Given the description of an element on the screen output the (x, y) to click on. 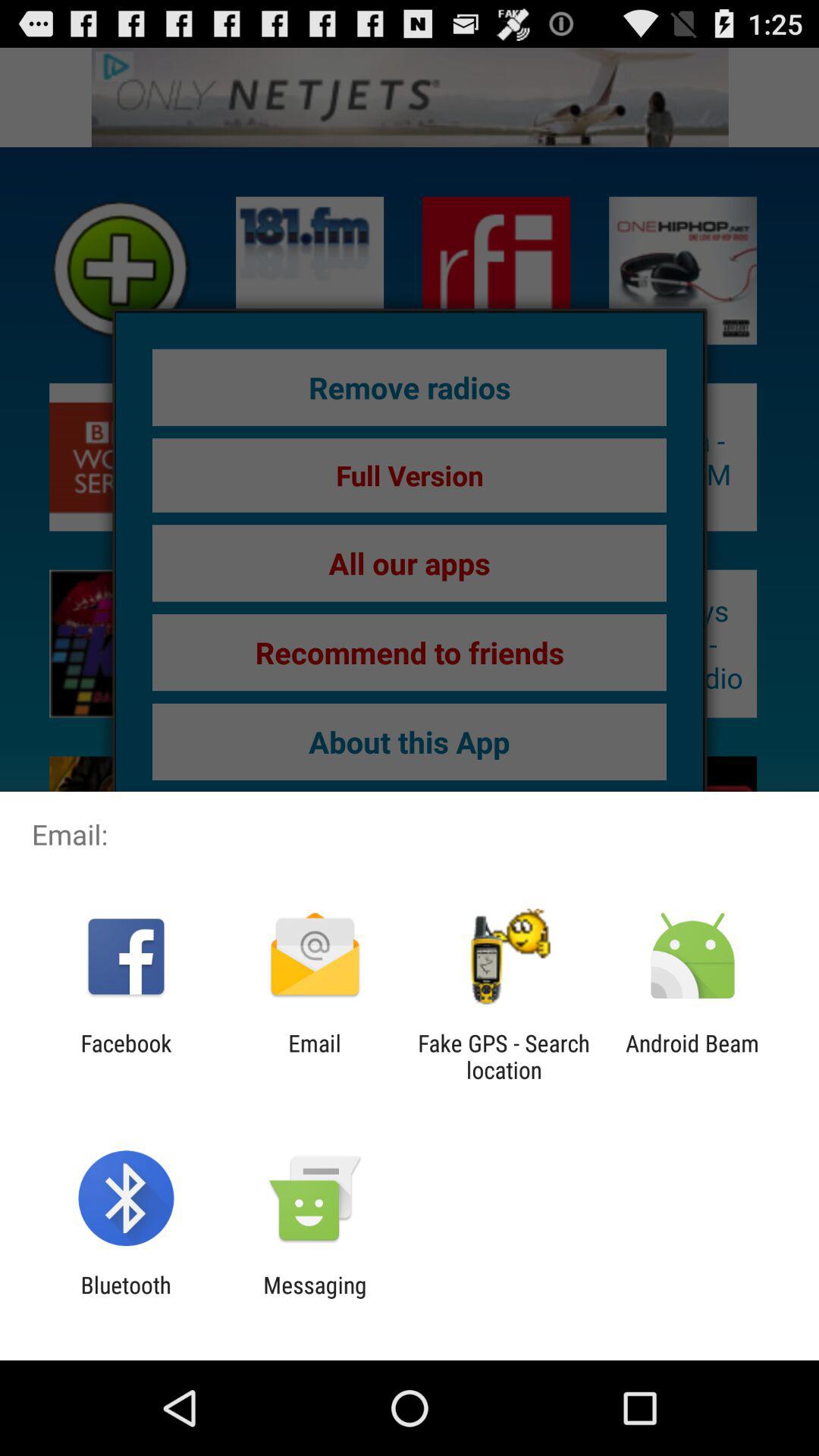
turn off item next to fake gps search (692, 1056)
